Given the description of an element on the screen output the (x, y) to click on. 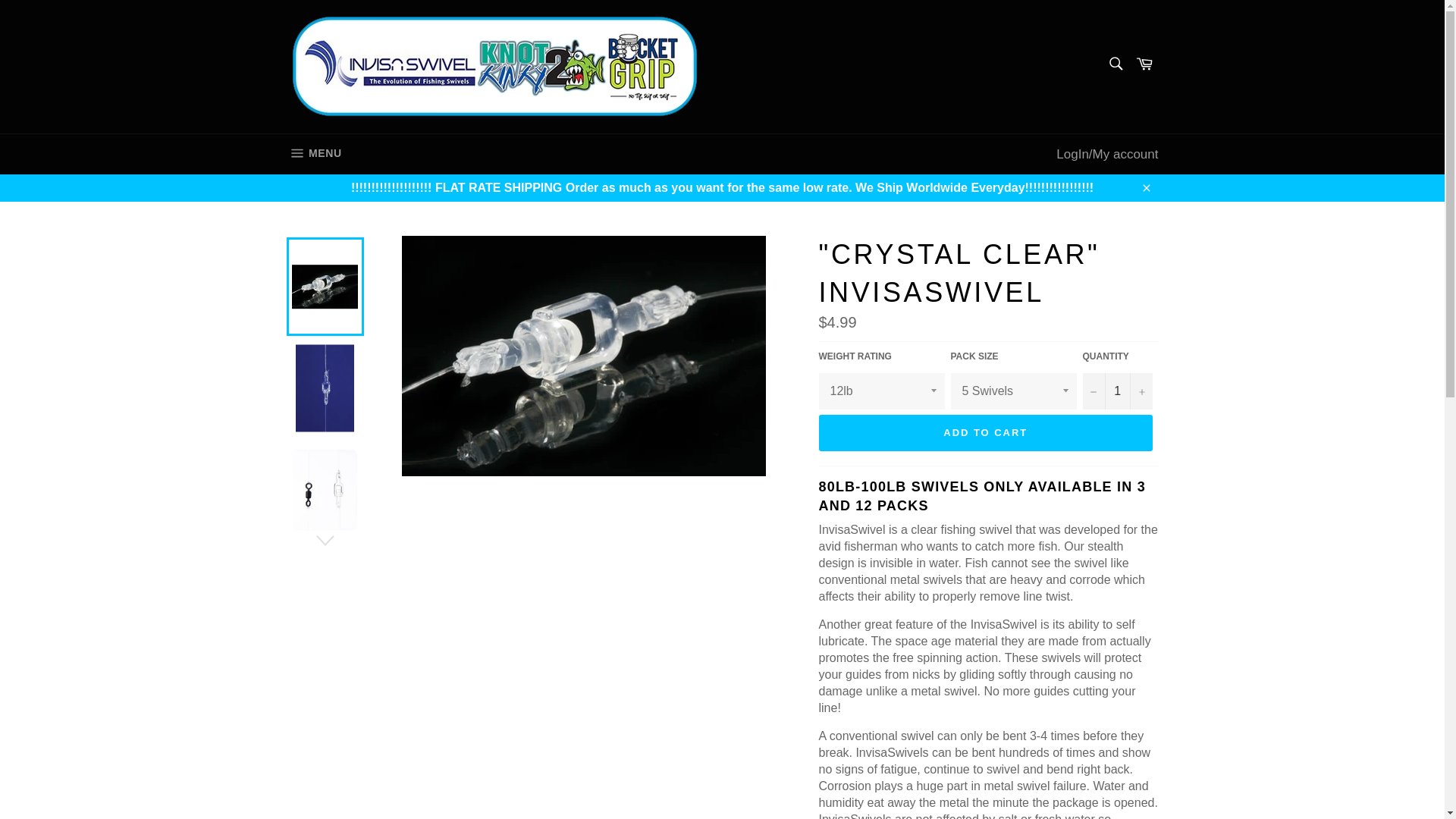
1 (1118, 391)
Close (1145, 187)
Search (1114, 63)
ADD TO CART (313, 154)
